Given the description of an element on the screen output the (x, y) to click on. 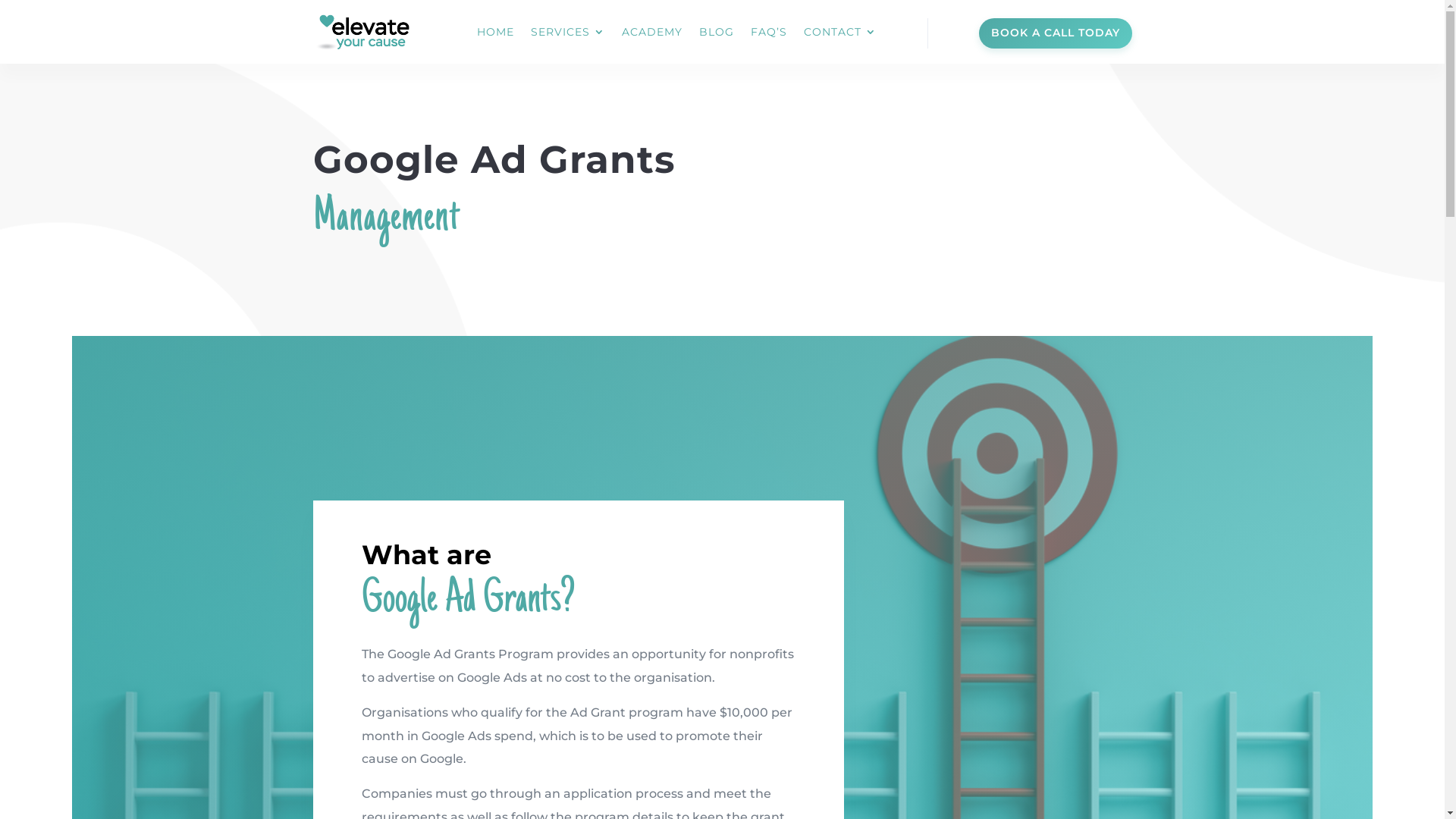
CONTACT Element type: text (839, 31)
ACADEMY Element type: text (651, 31)
HOME Element type: text (495, 31)
BLOG Element type: text (716, 31)
BOOK A CALL TODAY Element type: text (1054, 33)
SERVICES Element type: text (567, 31)
